Given the description of an element on the screen output the (x, y) to click on. 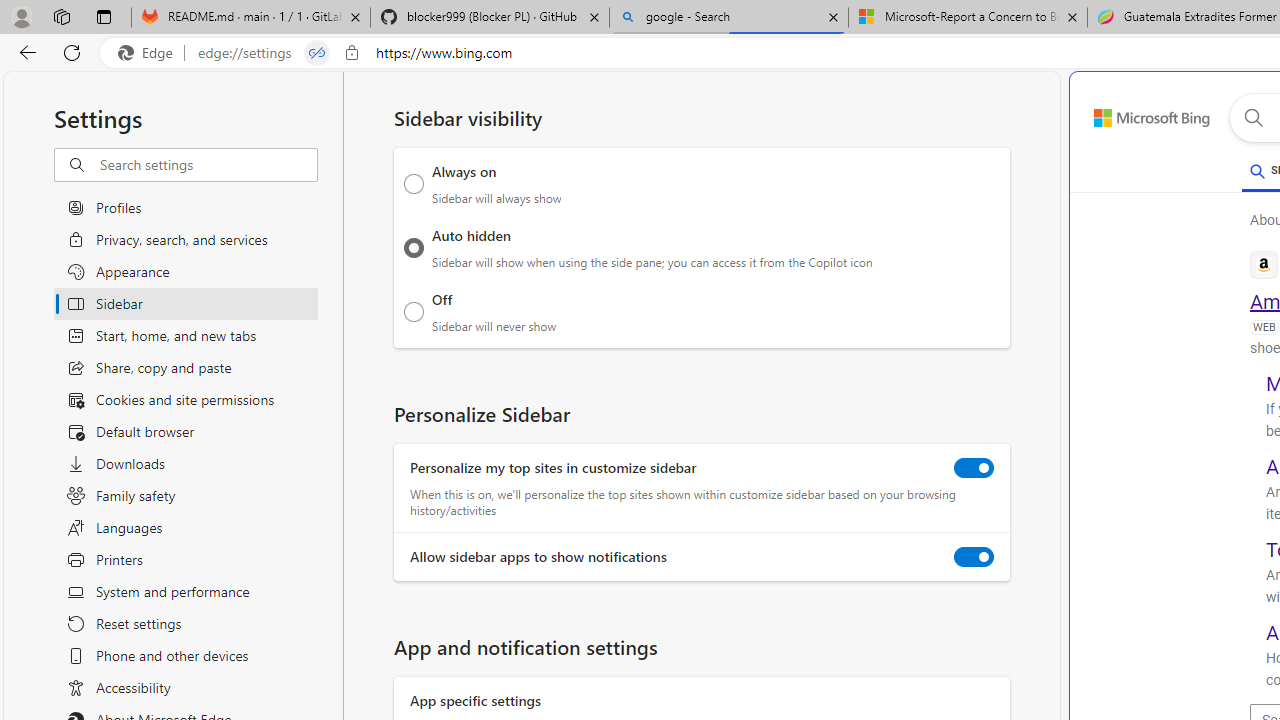
Search settings (207, 165)
Microsoft-Report a Concern to Bing (967, 17)
Always on Sidebar will always show (413, 183)
Back to Bing search (1139, 113)
Allow sidebar apps to show notifications (973, 557)
google - Search (729, 17)
Personalize my top sites in customize sidebar (973, 467)
Tabs in split screen (317, 53)
Global web icon (1263, 264)
